Given the description of an element on the screen output the (x, y) to click on. 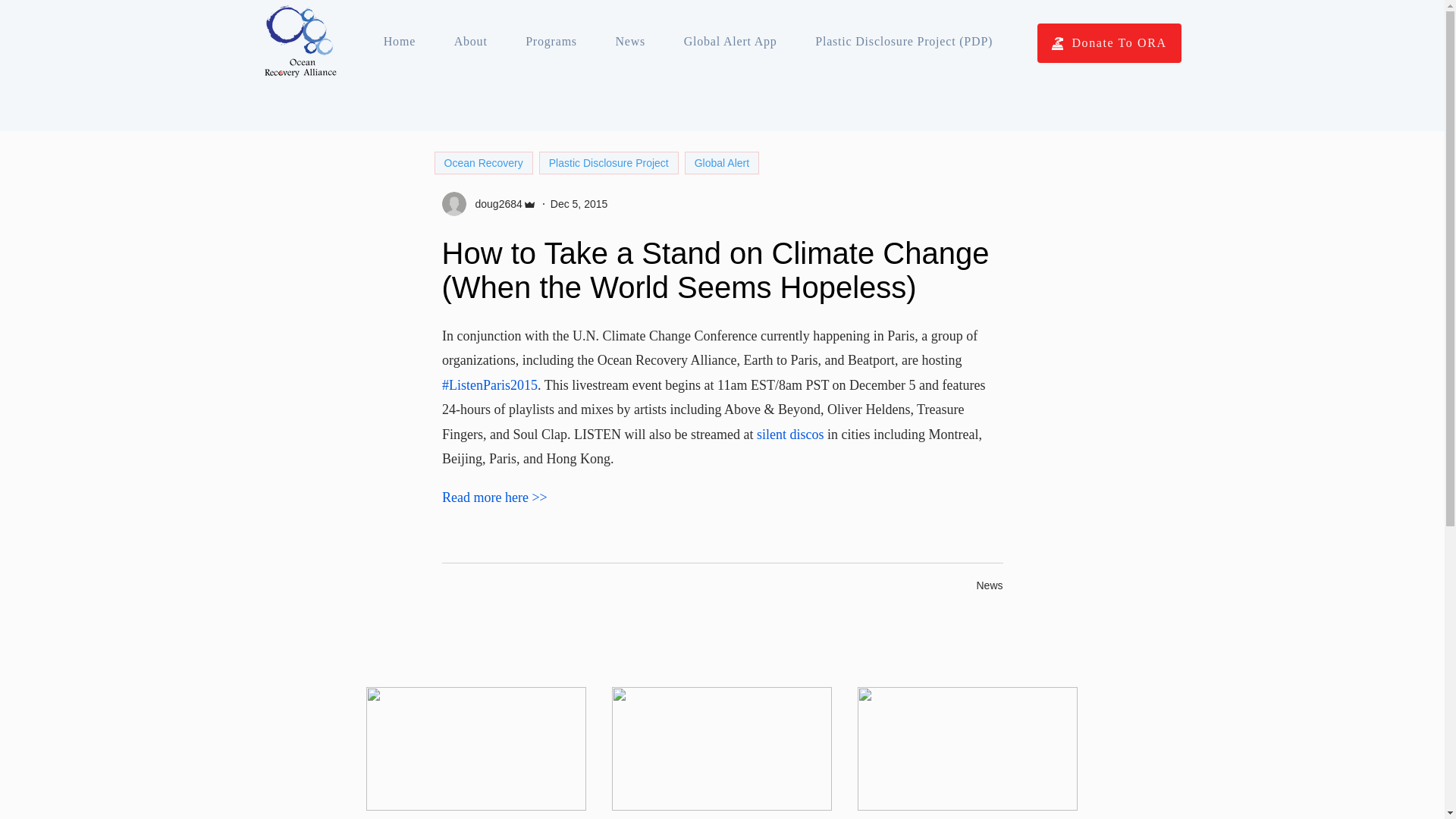
Global Alert App (729, 41)
Global Alert (721, 162)
doug2684 (493, 203)
News (989, 585)
News (629, 41)
Home (398, 41)
Ocean Recovery (482, 162)
About (470, 41)
Plastic Disclosure Project (608, 162)
Dec 5, 2015 (579, 203)
silent discos (789, 434)
Donate To ORA (1108, 43)
